Given the description of an element on the screen output the (x, y) to click on. 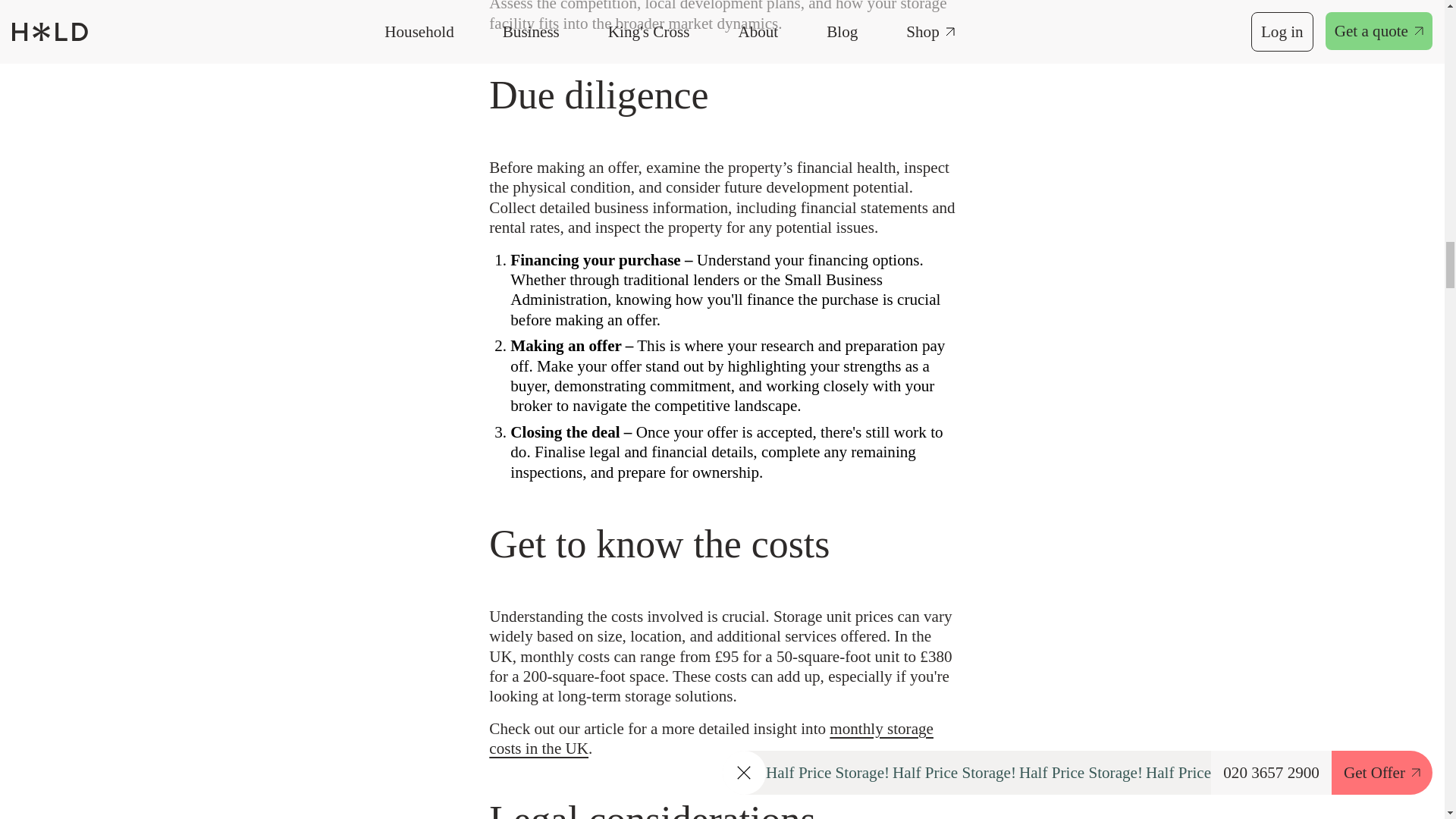
monthly storage costs in the UK (711, 738)
